Given the description of an element on the screen output the (x, y) to click on. 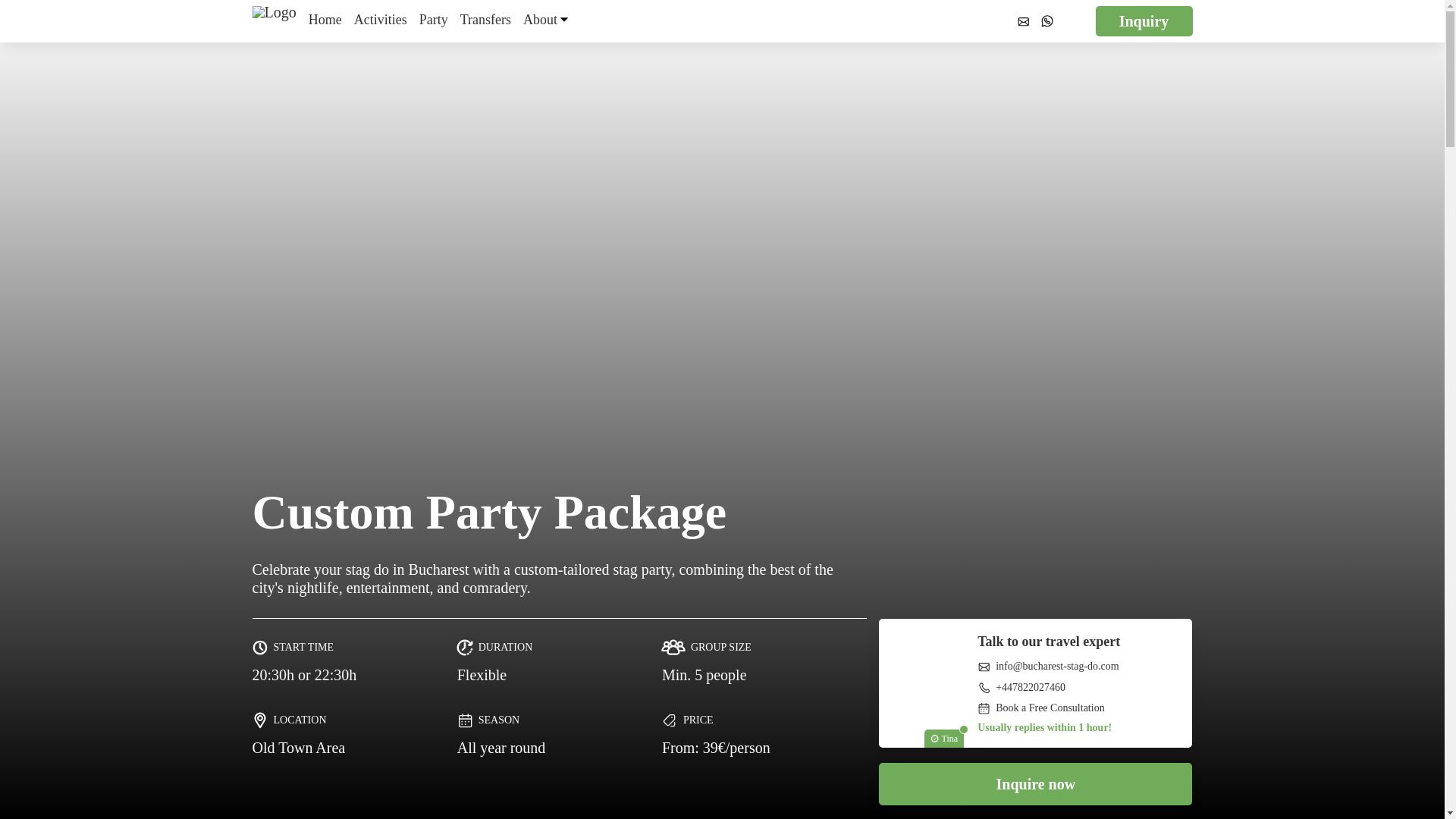
Book a Free Consultation (1040, 707)
Transfers (485, 21)
Activities (380, 21)
Inquiry (1143, 20)
Inquire now (1035, 783)
